Given the description of an element on the screen output the (x, y) to click on. 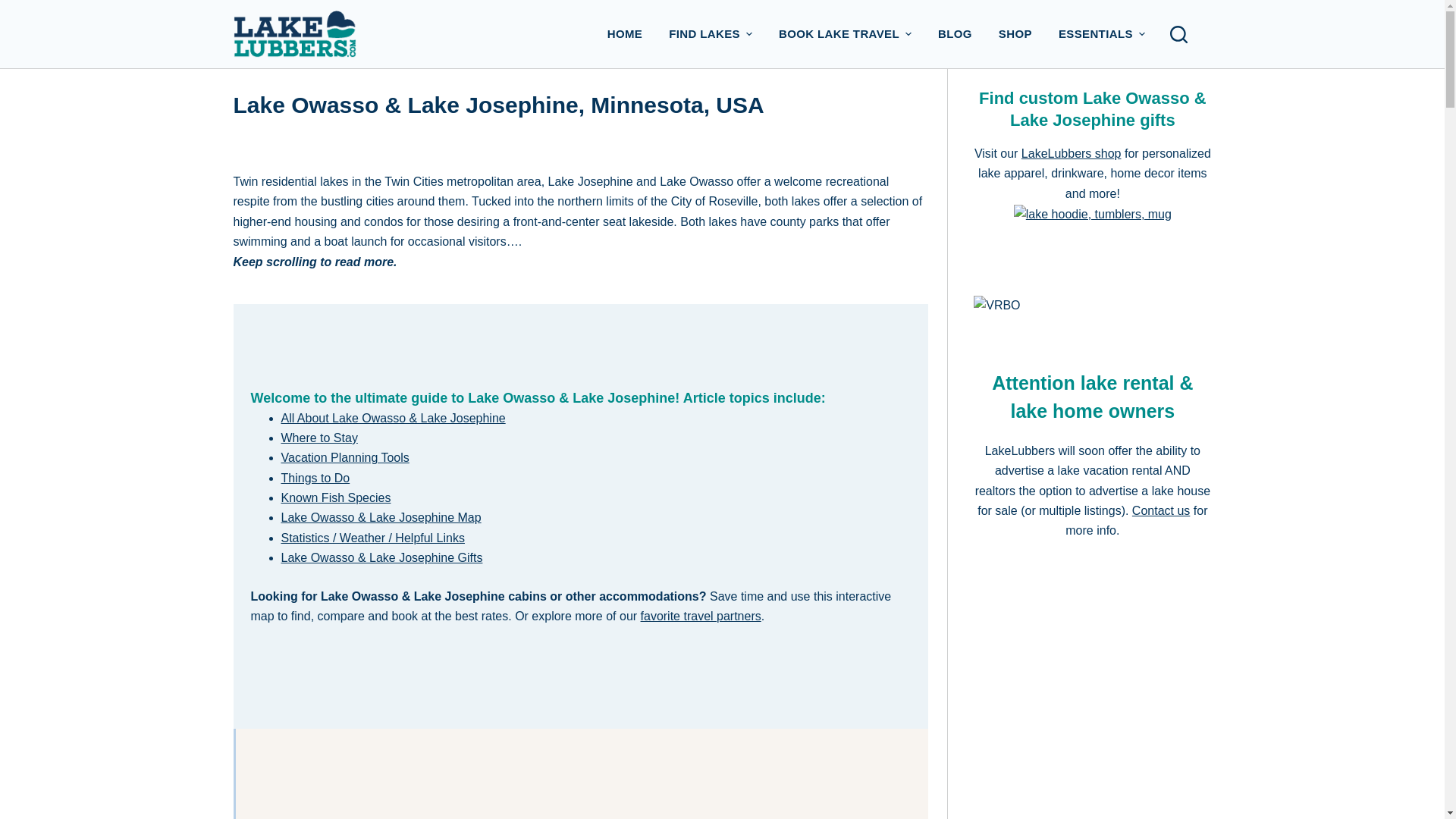
BOOK LAKE TRAVEL (844, 33)
FIND LAKES (710, 33)
Skip to content (15, 7)
HOME (625, 33)
